Given the description of an element on the screen output the (x, y) to click on. 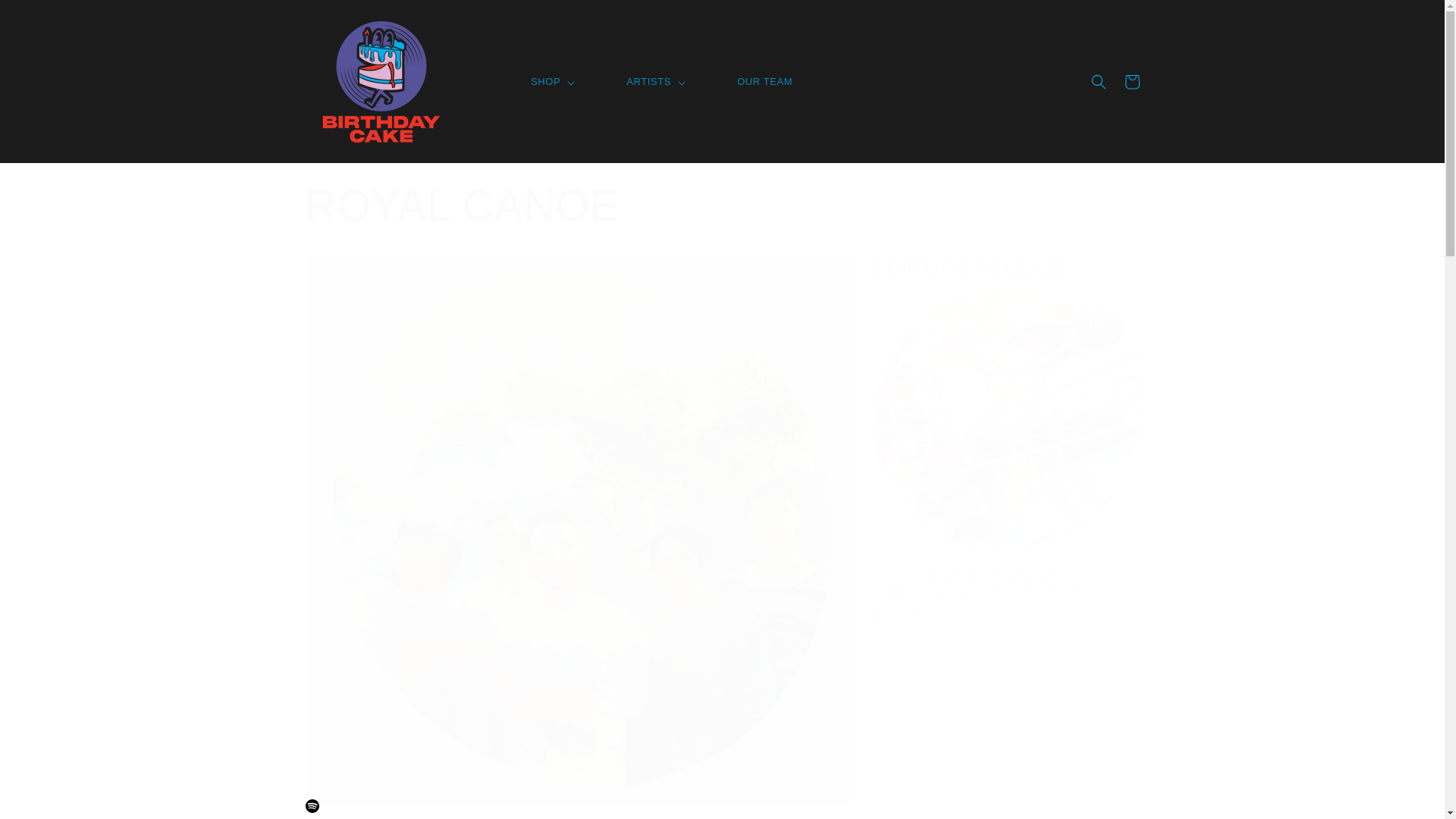
OUR TEAM (764, 82)
Skip to content (48, 19)
CART (1131, 81)
ROYAL CANOE (721, 205)
